Given the description of an element on the screen output the (x, y) to click on. 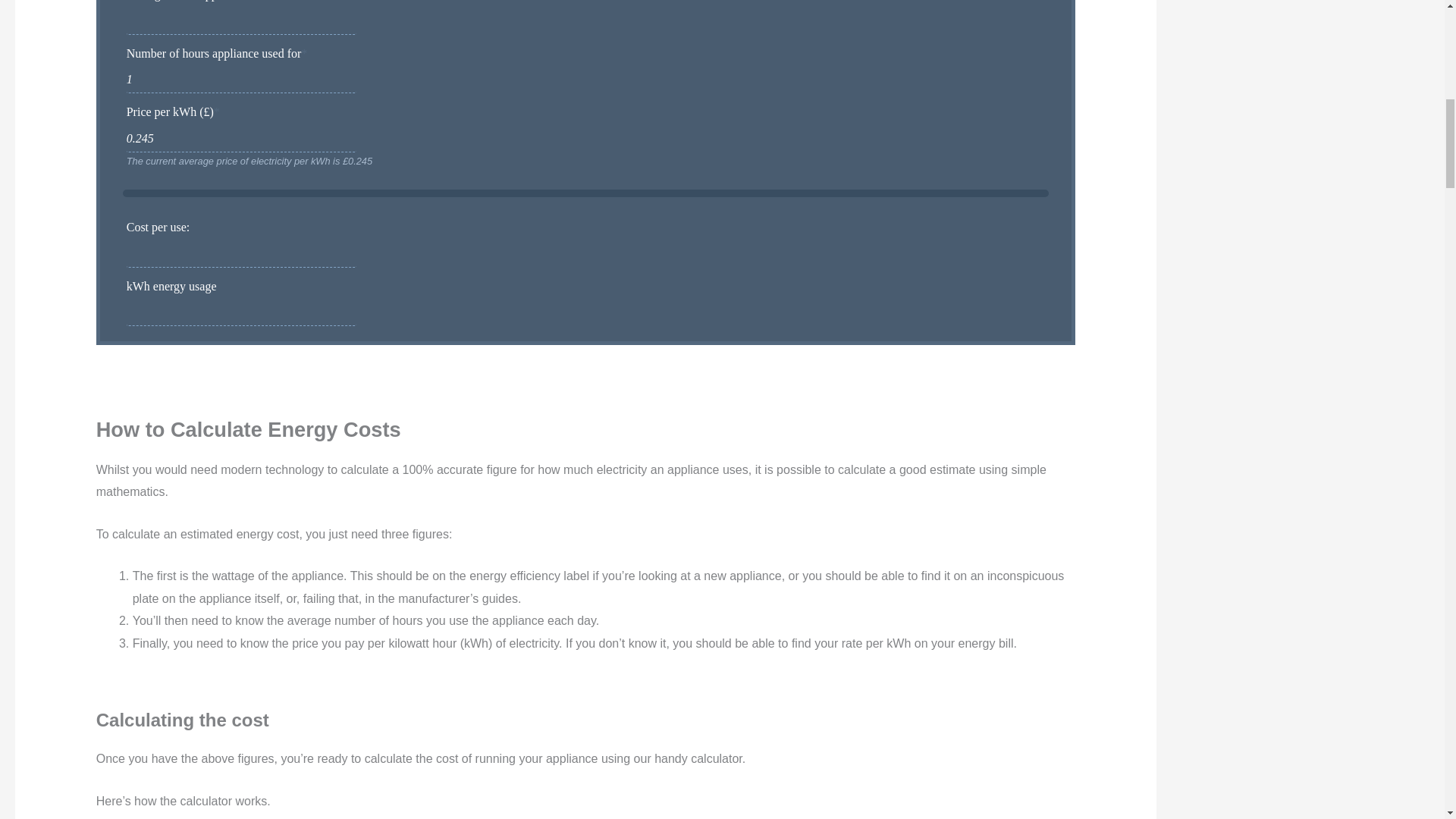
0.245 (241, 140)
1 (241, 81)
